Given the description of an element on the screen output the (x, y) to click on. 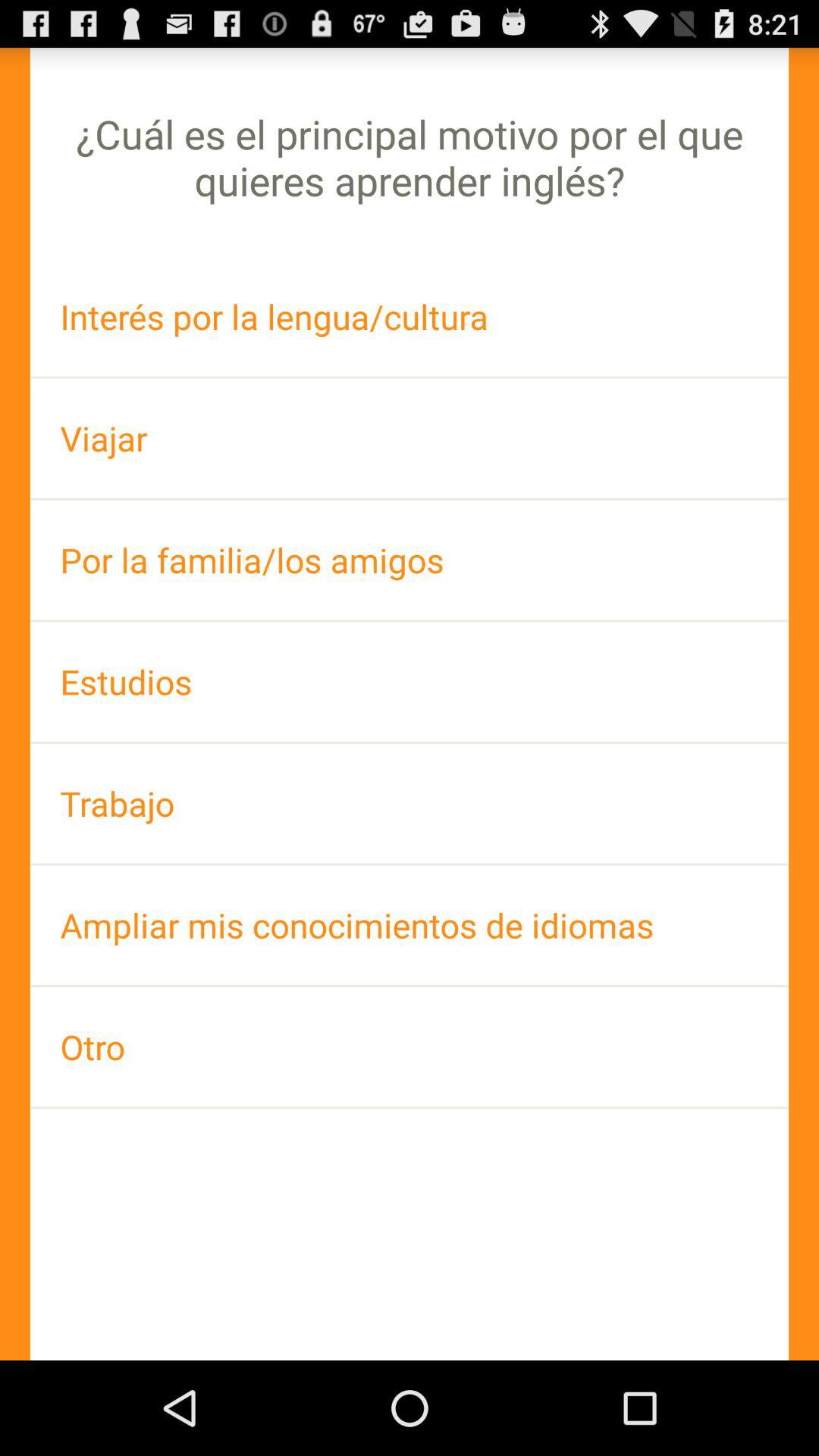
turn on the icon above ampliar mis conocimientos item (409, 803)
